Given the description of an element on the screen output the (x, y) to click on. 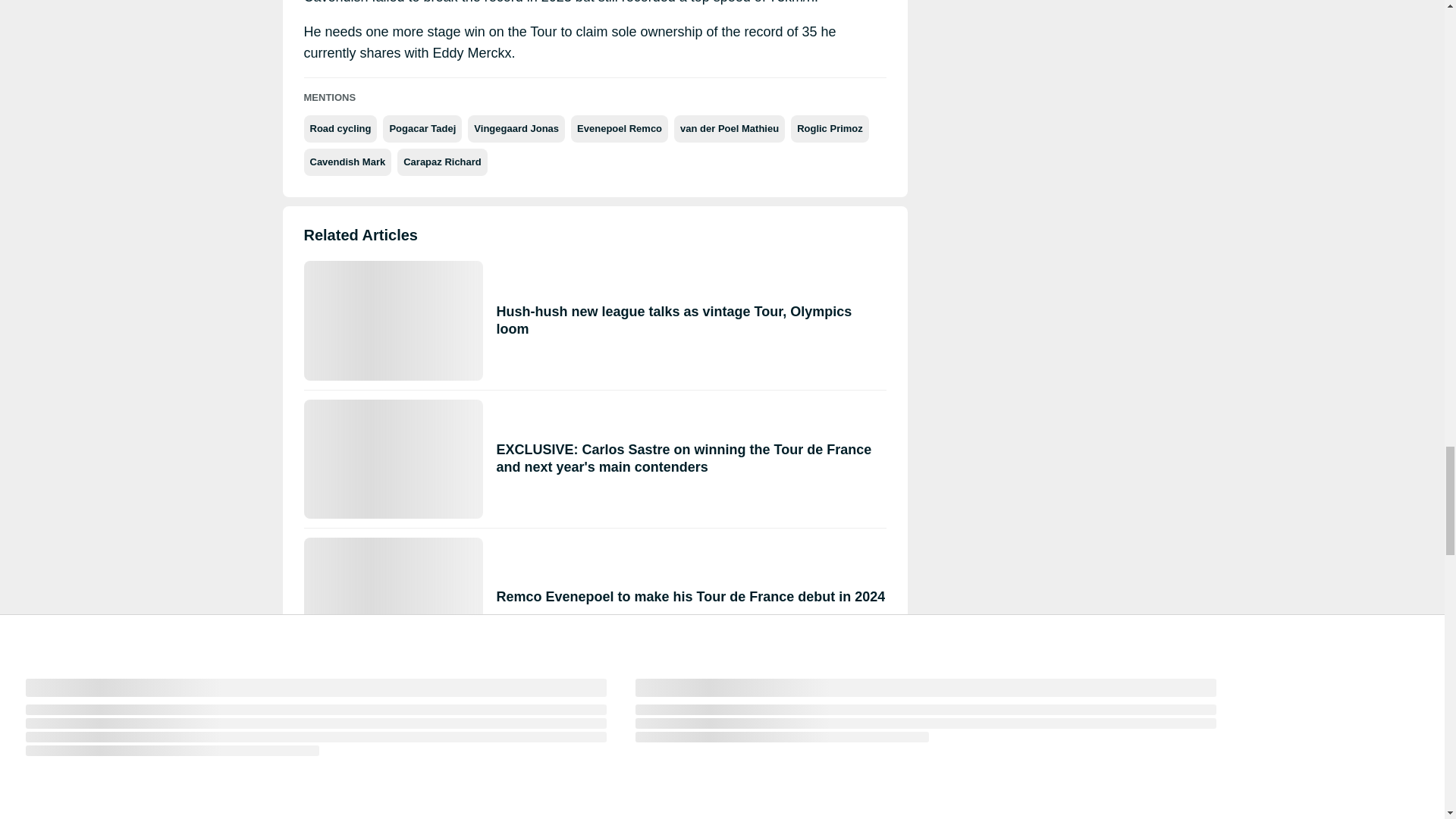
Roglic Primoz (829, 128)
Cavendish Mark (346, 162)
Carapaz Richard (442, 162)
Hush-hush new league talks as vintage Tour, Olympics loom (593, 320)
Roglic Primoz (829, 128)
Vingegaard Jonas (515, 128)
Remco Evenepoel to make his Tour de France debut in 2024 (593, 596)
Carapaz Richard (442, 162)
Evenepoel Remco (619, 128)
Pogacar Tadej (421, 128)
Remco Evenepoel to make his Tour de France debut in 2024 (593, 596)
Vingegaard Jonas (515, 128)
